Given the description of an element on the screen output the (x, y) to click on. 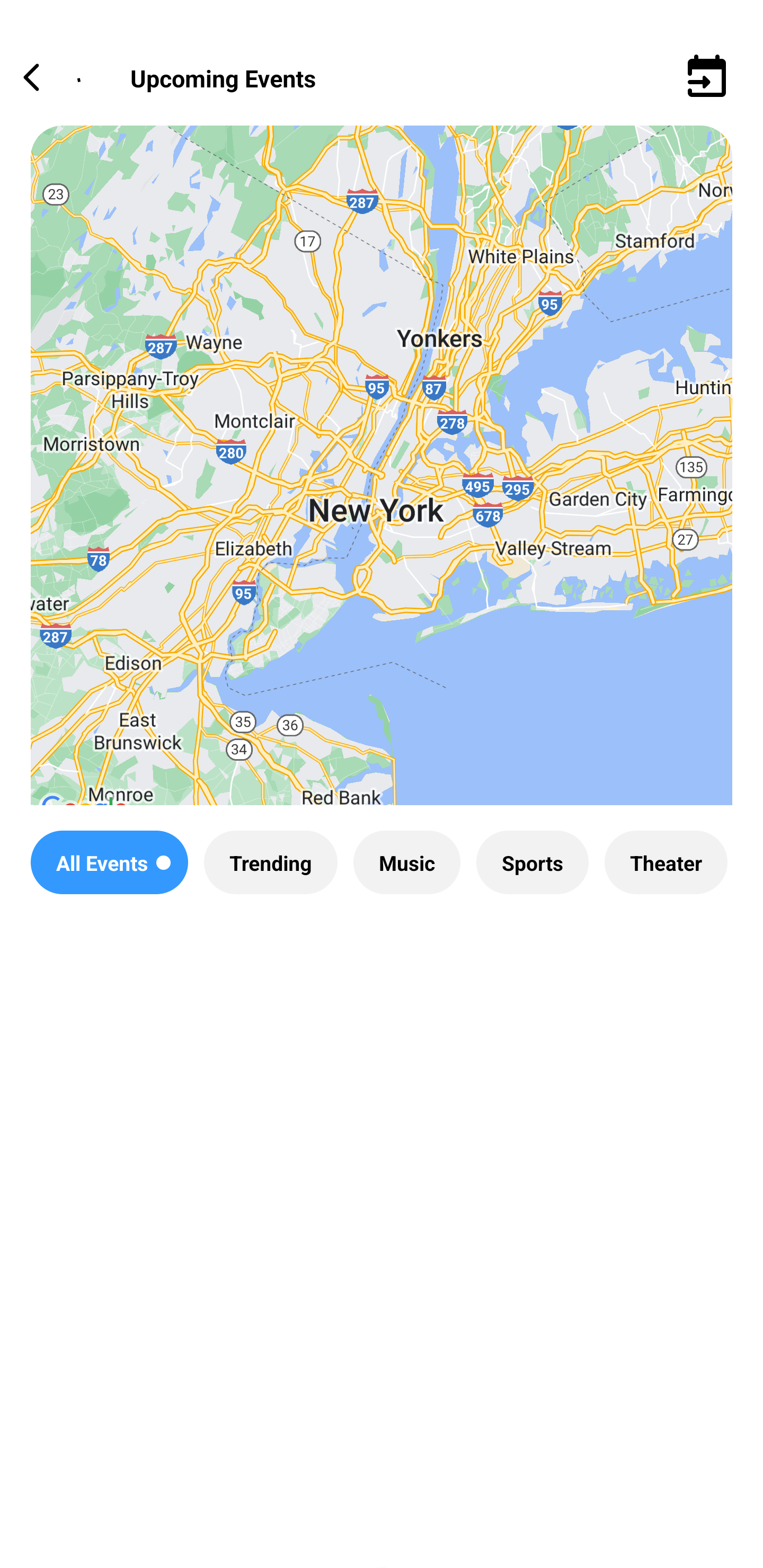
Google Map (381, 480)
All Events (109, 862)
Trending (270, 862)
Music (406, 862)
Sports (532, 862)
Theater (665, 862)
